Given the description of an element on the screen output the (x, y) to click on. 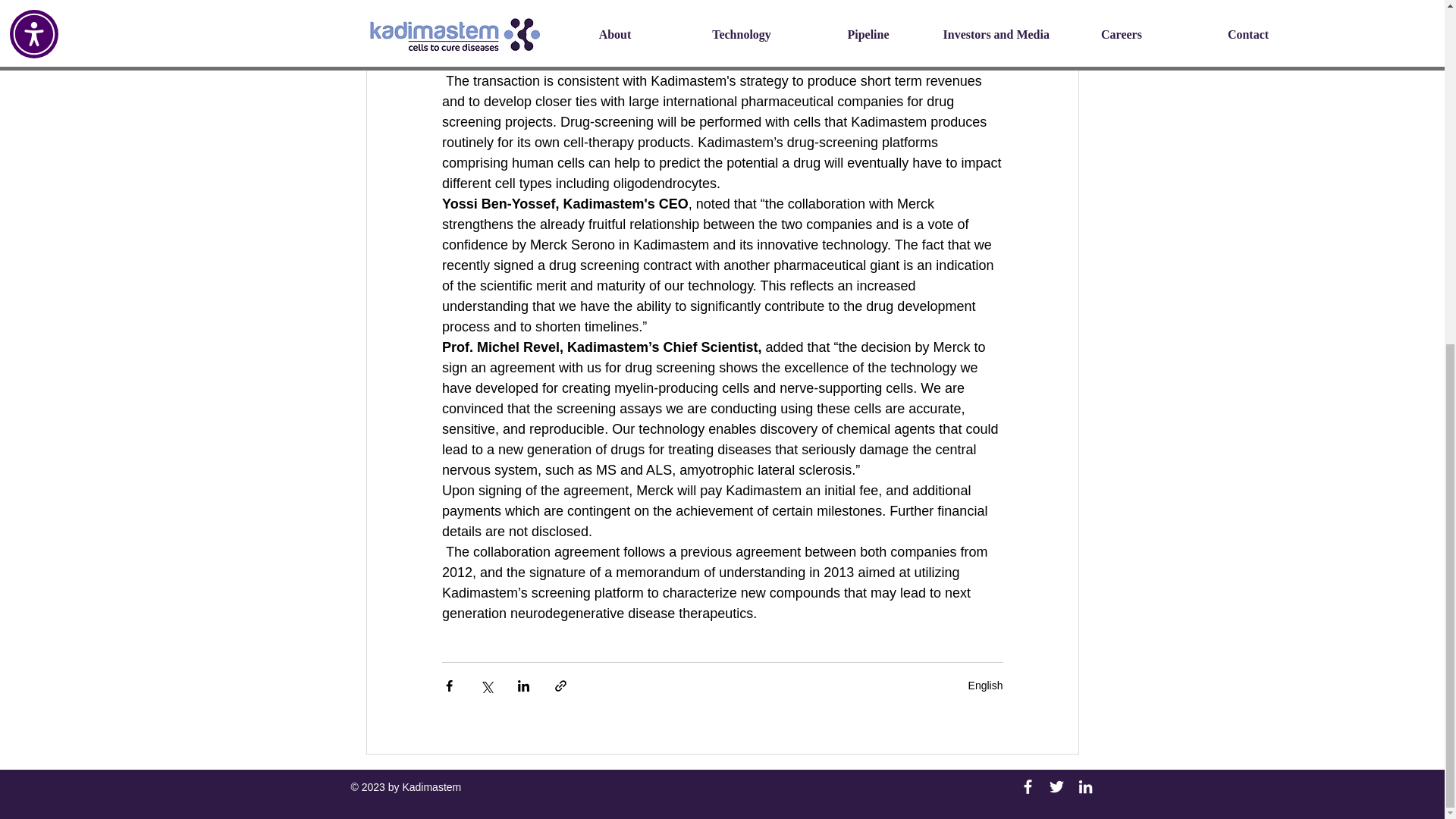
English (985, 685)
